Given the description of an element on the screen output the (x, y) to click on. 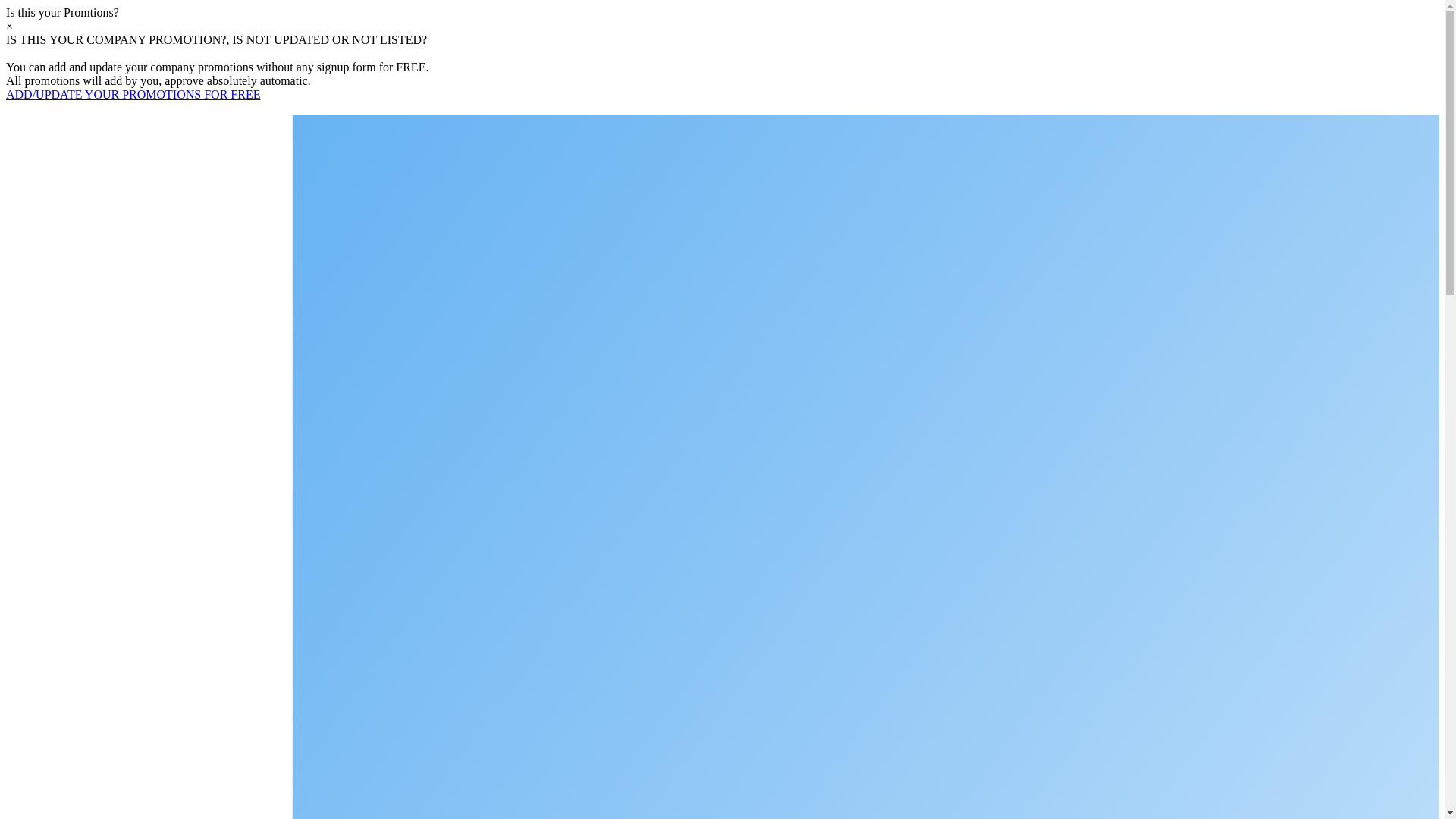
ADD/UPDATE YOUR PROMOTIONS FOR FREE Element type: text (133, 93)
